Given the description of an element on the screen output the (x, y) to click on. 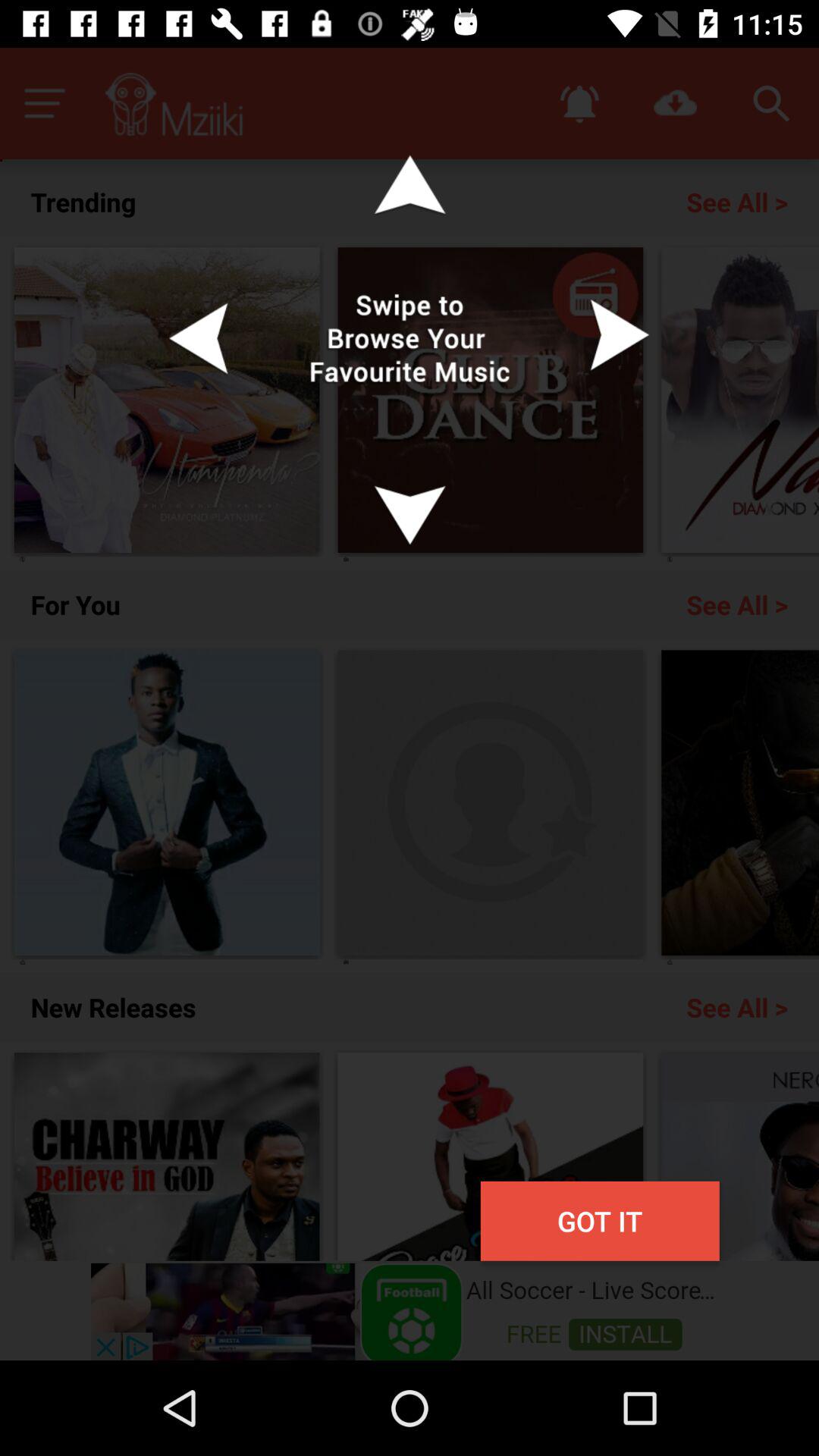
open icon at the bottom right corner (599, 1220)
